Given the description of an element on the screen output the (x, y) to click on. 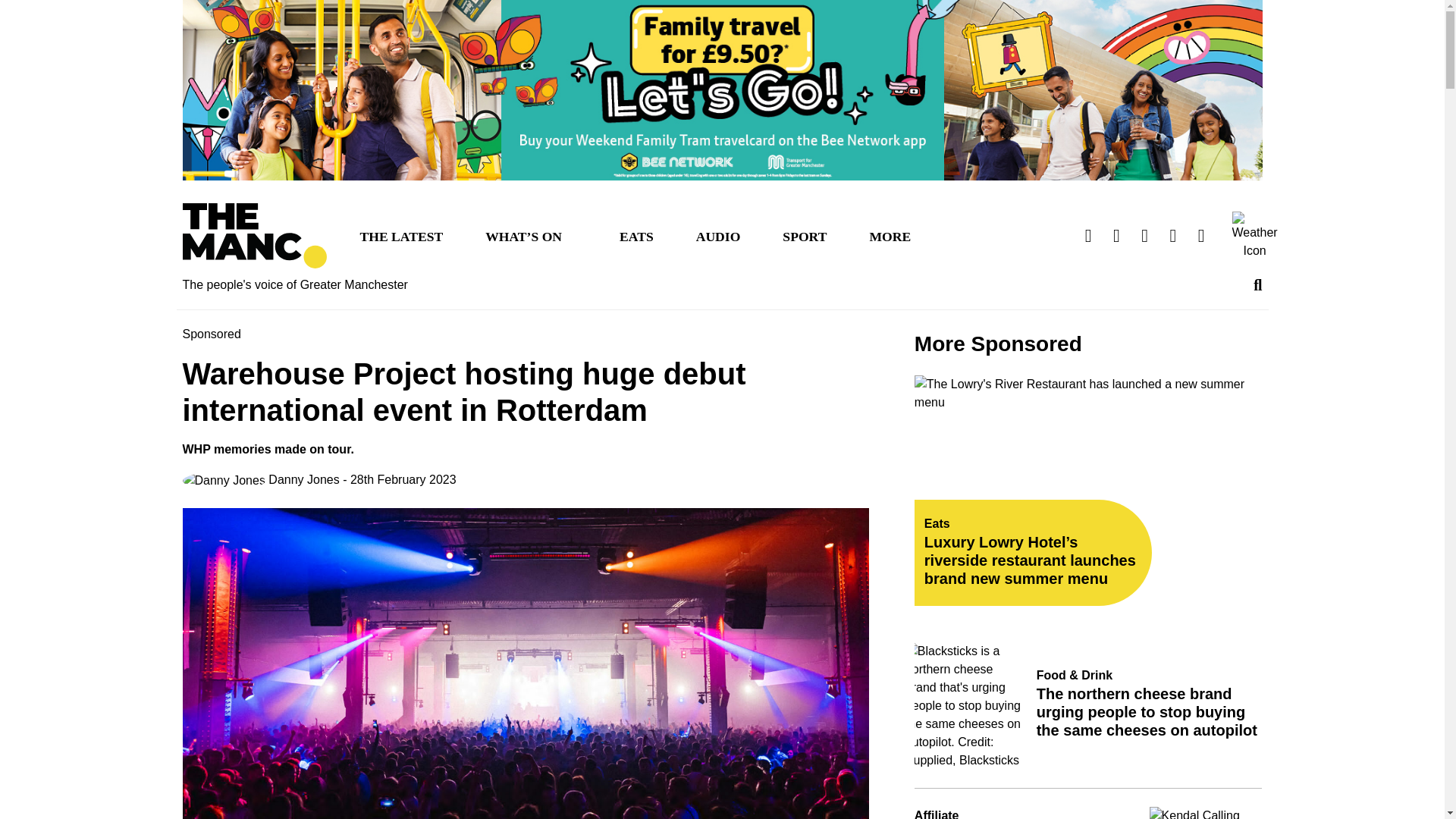
Danny Jones (260, 479)
SPORT (804, 235)
The Manc (254, 236)
THE LATEST (400, 235)
EATS (635, 235)
MORE (890, 235)
AUDIO (718, 235)
